Given the description of an element on the screen output the (x, y) to click on. 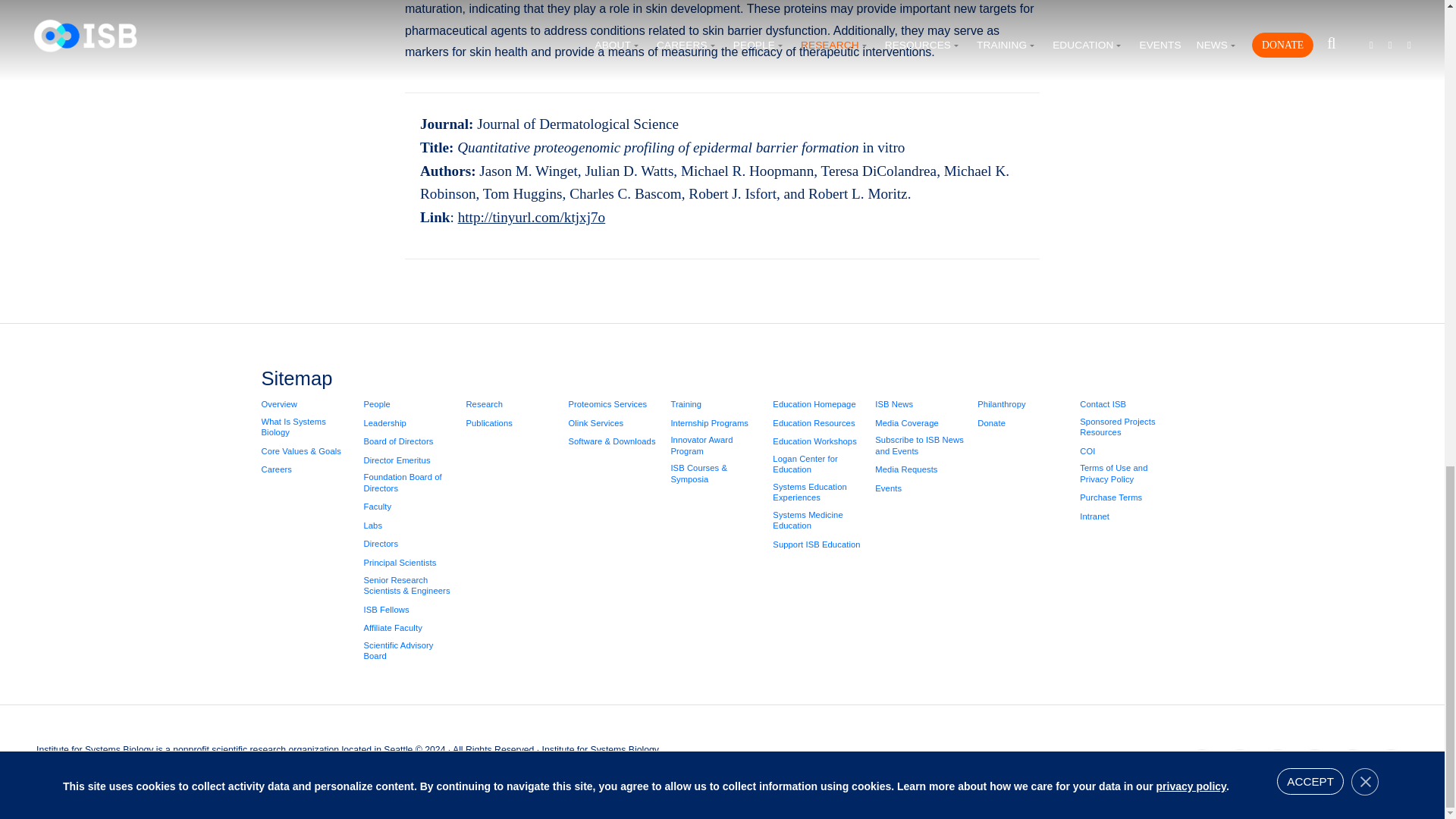
Youtube (1352, 765)
Instagram (1314, 765)
Flickr (1390, 765)
Linkedin (1278, 765)
Twitter (1239, 765)
Facebook (1201, 765)
